Given the description of an element on the screen output the (x, y) to click on. 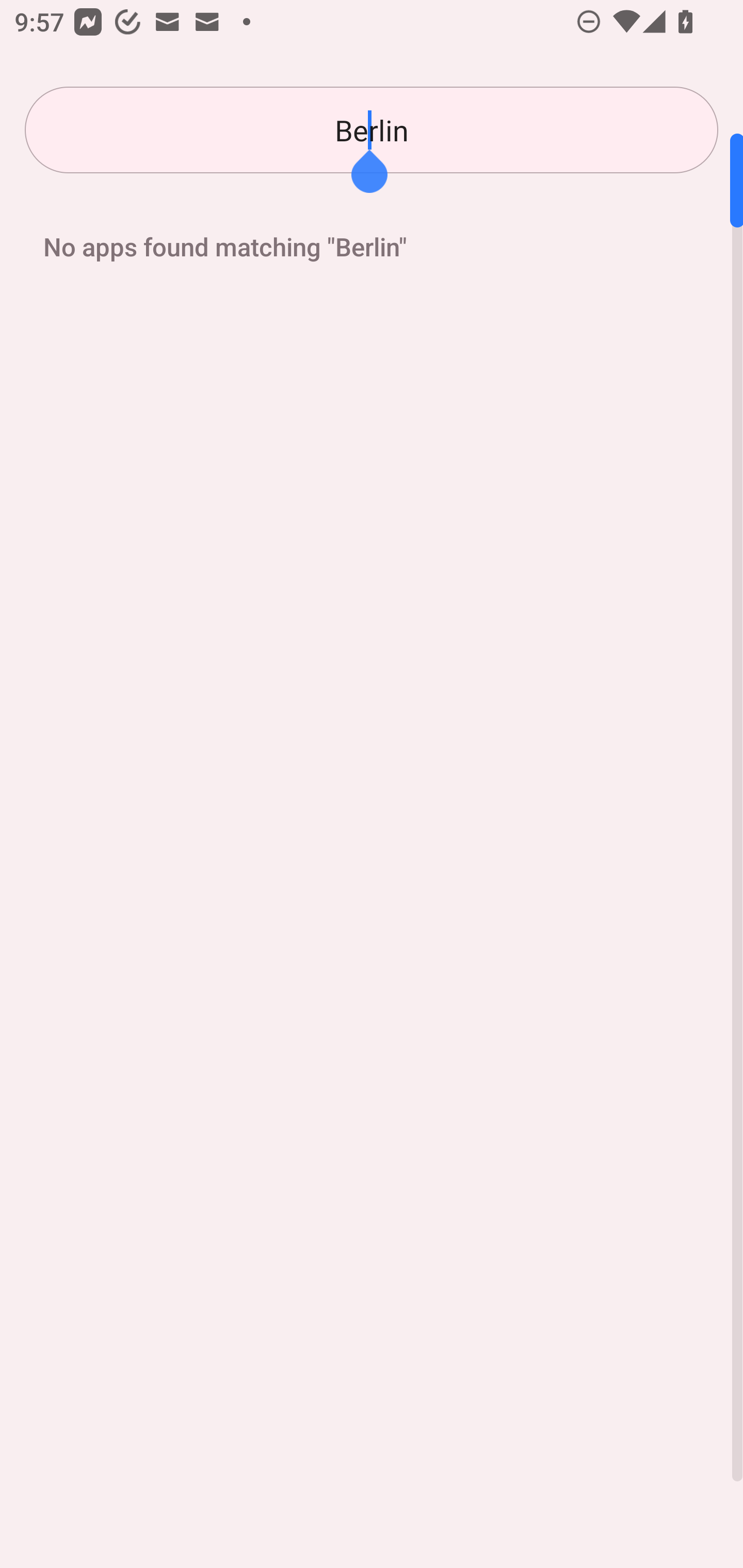
Berlin (371, 130)
